Given the description of an element on the screen output the (x, y) to click on. 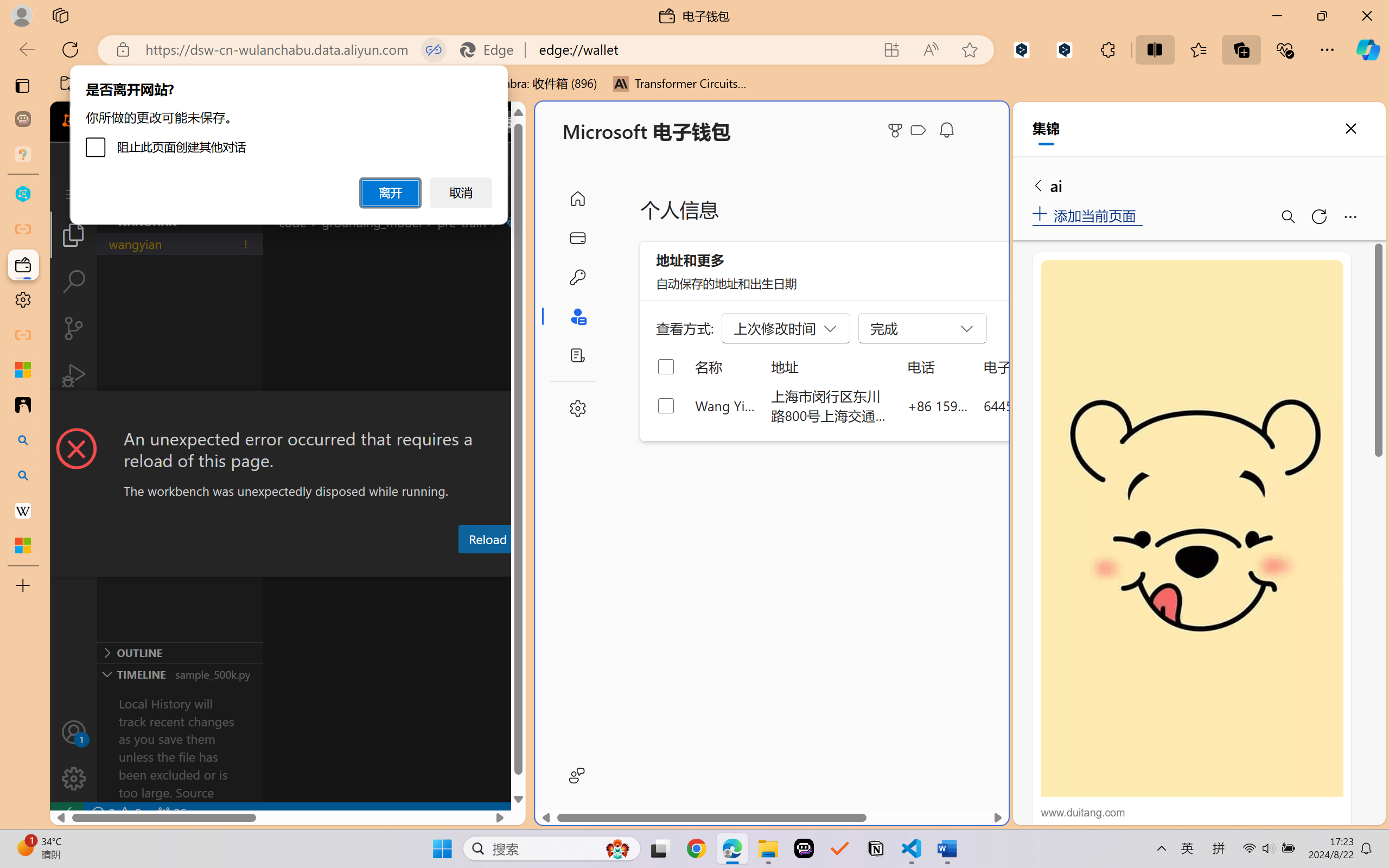
Extensions (Ctrl+Shift+X) (73, 422)
Earth - Wikipedia (22, 510)
Wang Yian (725, 405)
